Given the description of an element on the screen output the (x, y) to click on. 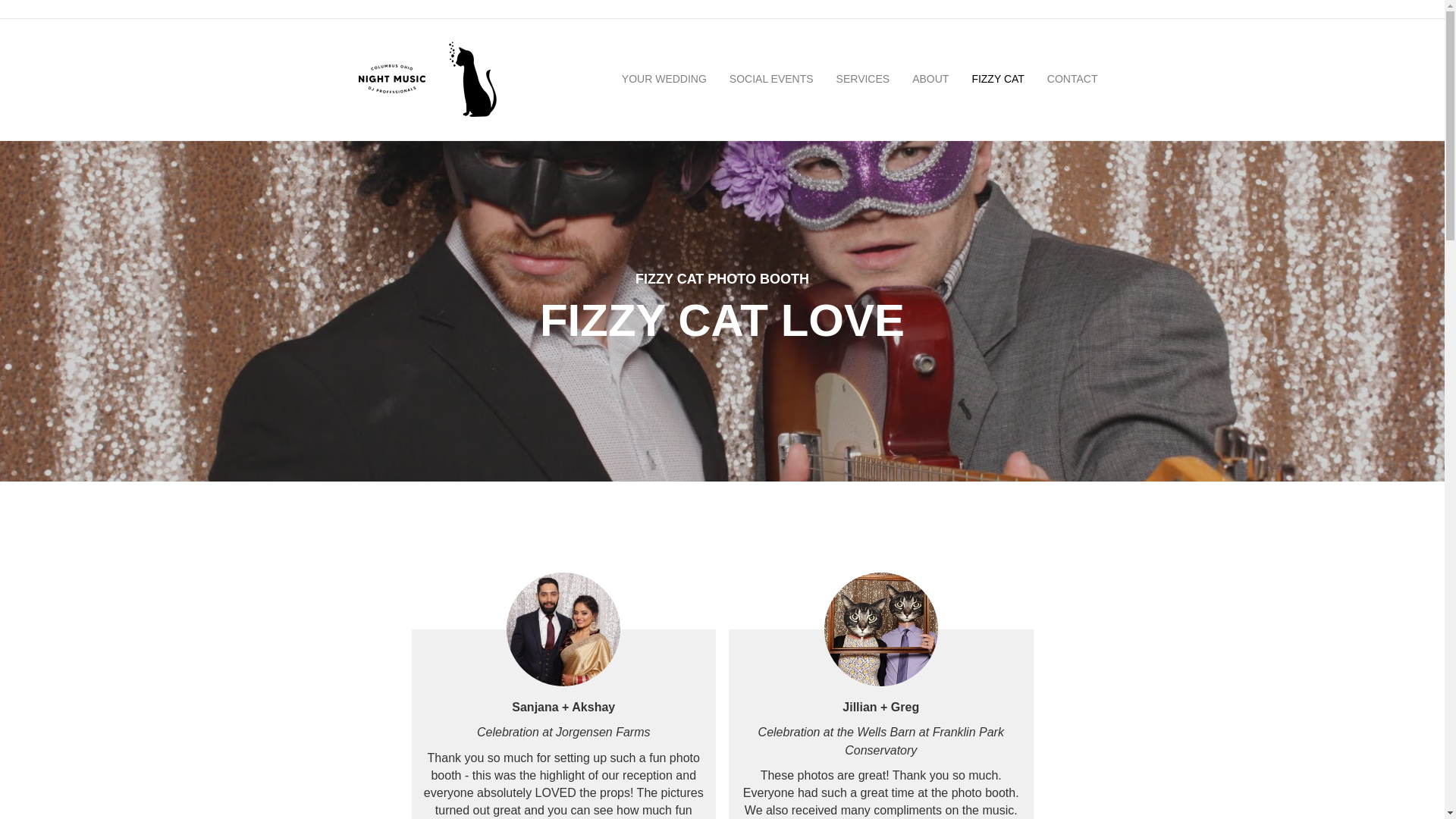
SOCIAL EVENTS (771, 79)
ABOUT (930, 79)
FIZZY CAT (997, 79)
SERVICES (863, 79)
YOUR WEDDING (663, 79)
